Given the description of an element on the screen output the (x, y) to click on. 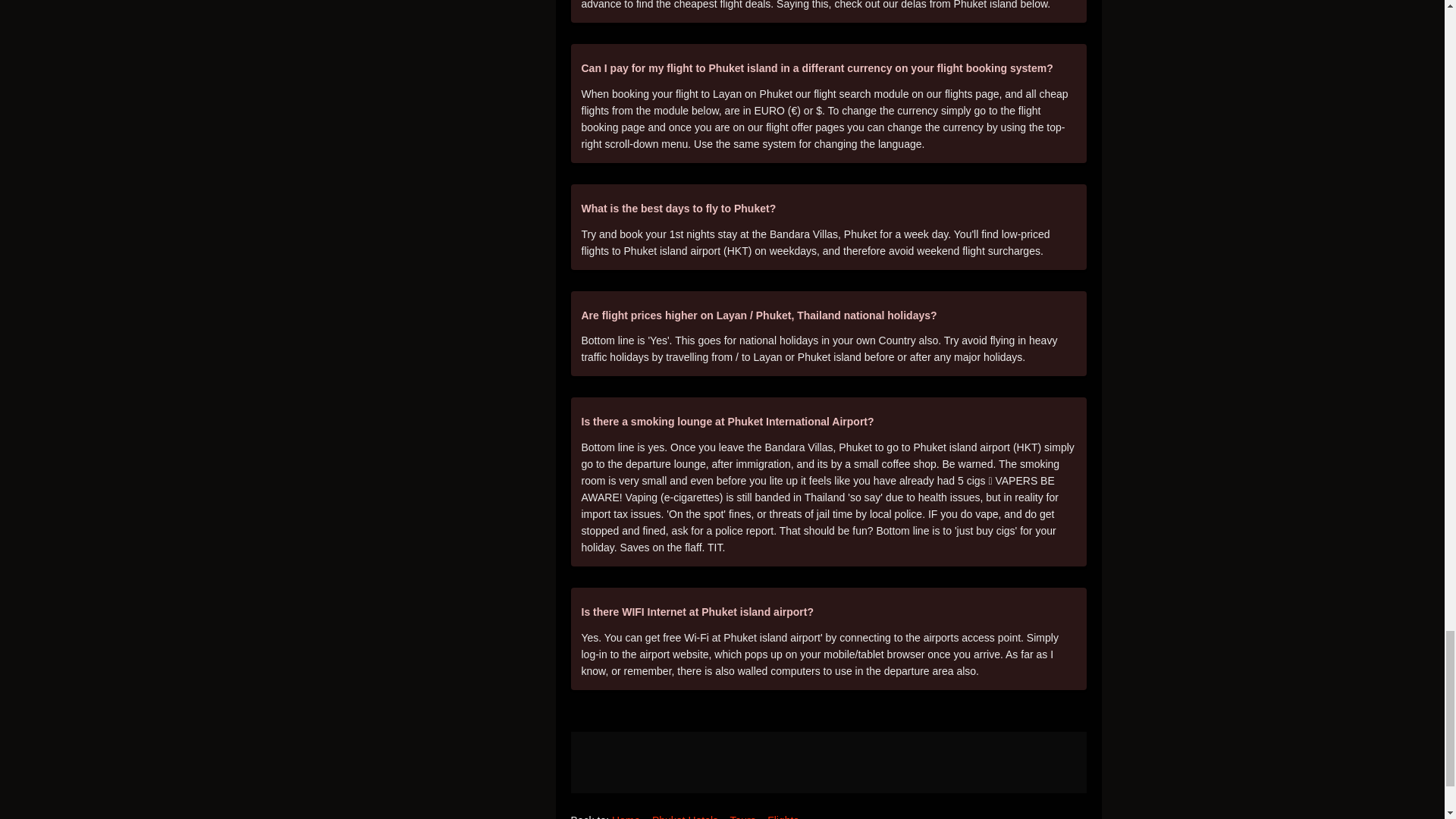
Bandara Villas, Phuket - Resort reservations. (828, 762)
